Given the description of an element on the screen output the (x, y) to click on. 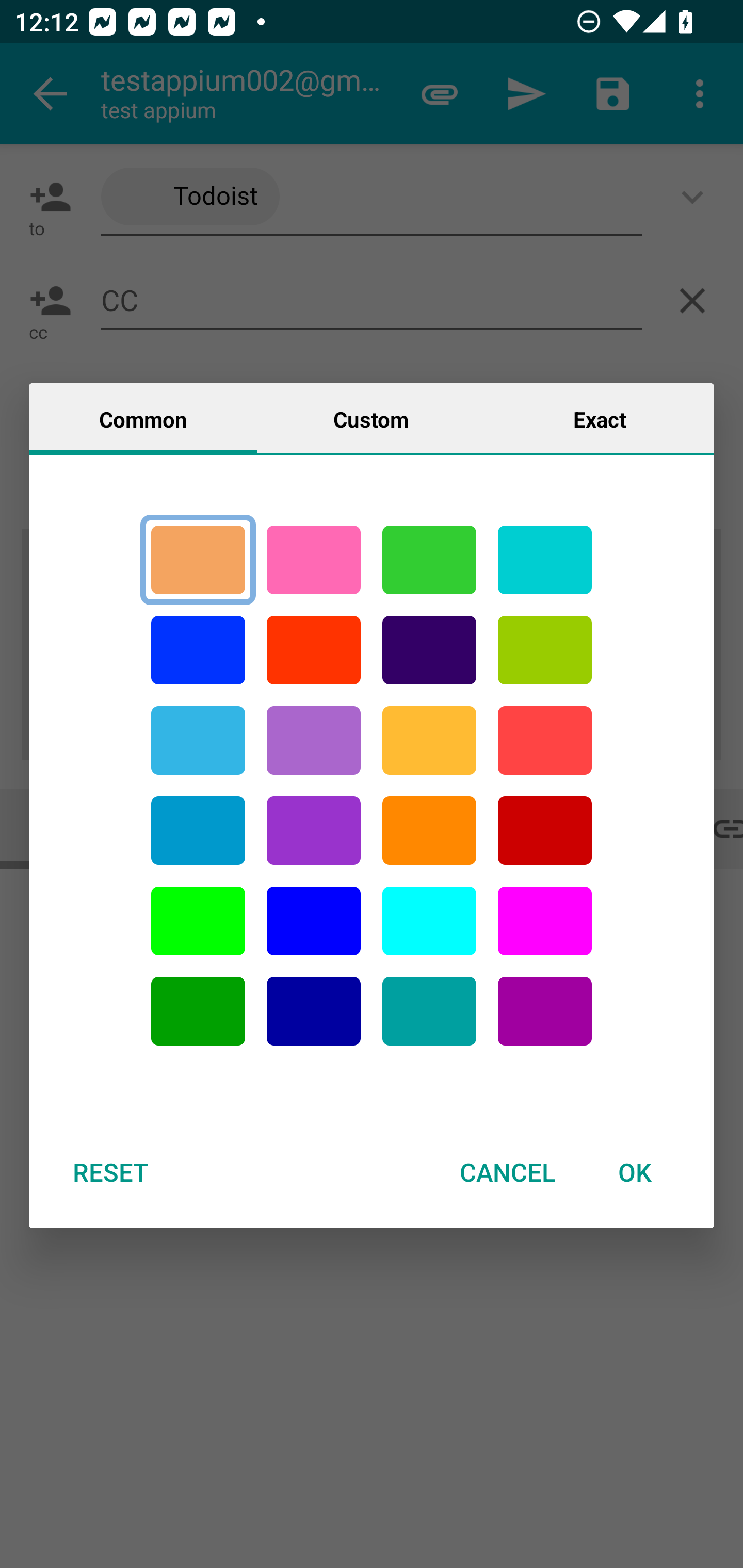
Common (142, 418)
Custom (371, 418)
Exact (599, 418)
Peach (197, 559)
Pink (313, 559)
Green (429, 559)
Cyan (544, 559)
Blue (197, 649)
Red (313, 649)
Dark purple (429, 649)
Light green (544, 649)
Cyan (197, 739)
Purple (313, 739)
Light orange (429, 739)
Light red (544, 739)
Dark cyan (197, 830)
Purple (313, 830)
Orange (429, 830)
Dark red (544, 830)
Light green (197, 920)
Blue (313, 920)
Light cyan (429, 920)
Light purple (544, 920)
Dark green (197, 1010)
Dark blue (313, 1010)
Cyan (429, 1010)
Purple (544, 1010)
RESET (110, 1171)
CANCEL (507, 1171)
OK (634, 1171)
